Given the description of an element on the screen output the (x, y) to click on. 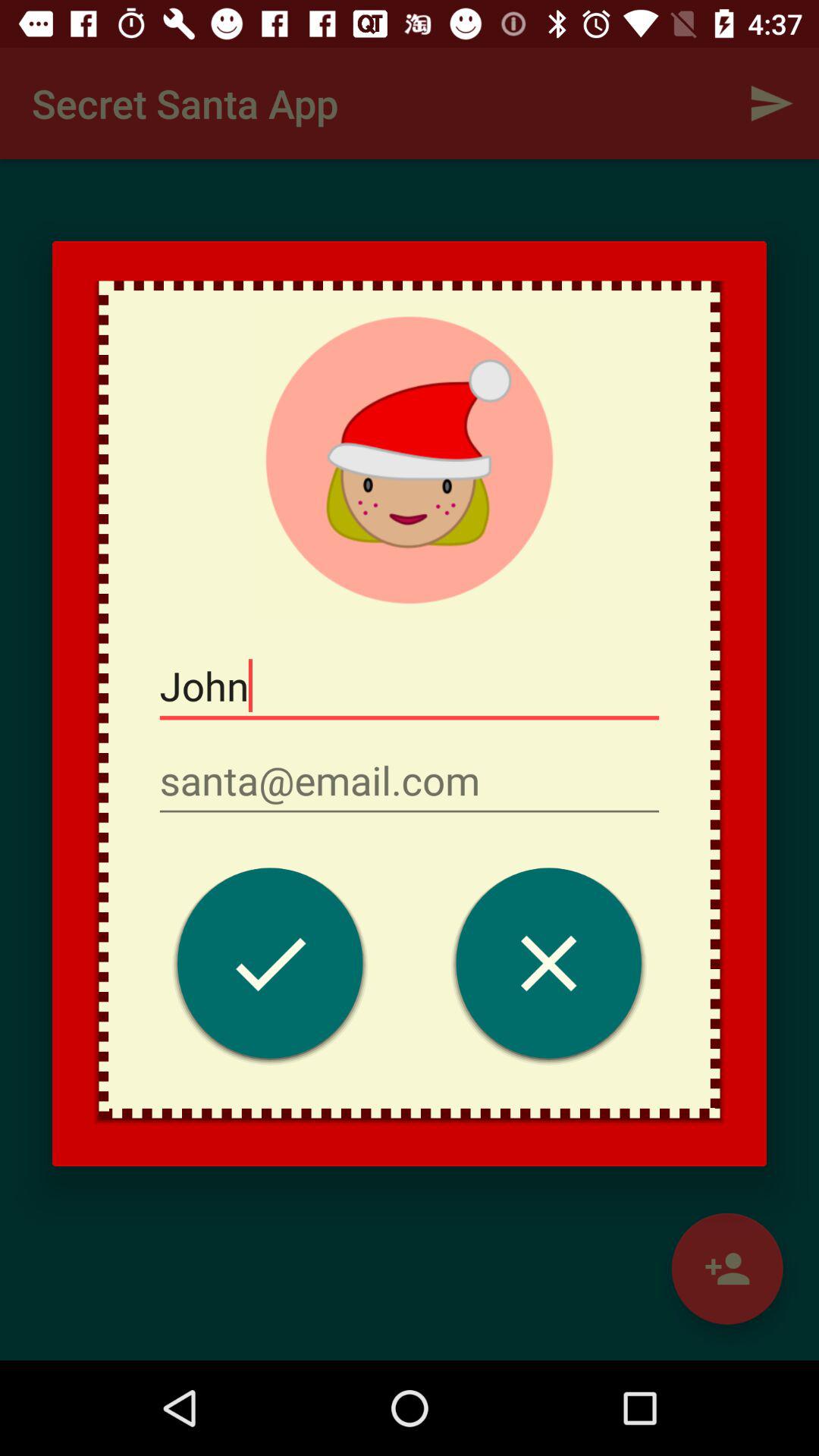
cancel (548, 966)
